Given the description of an element on the screen output the (x, y) to click on. 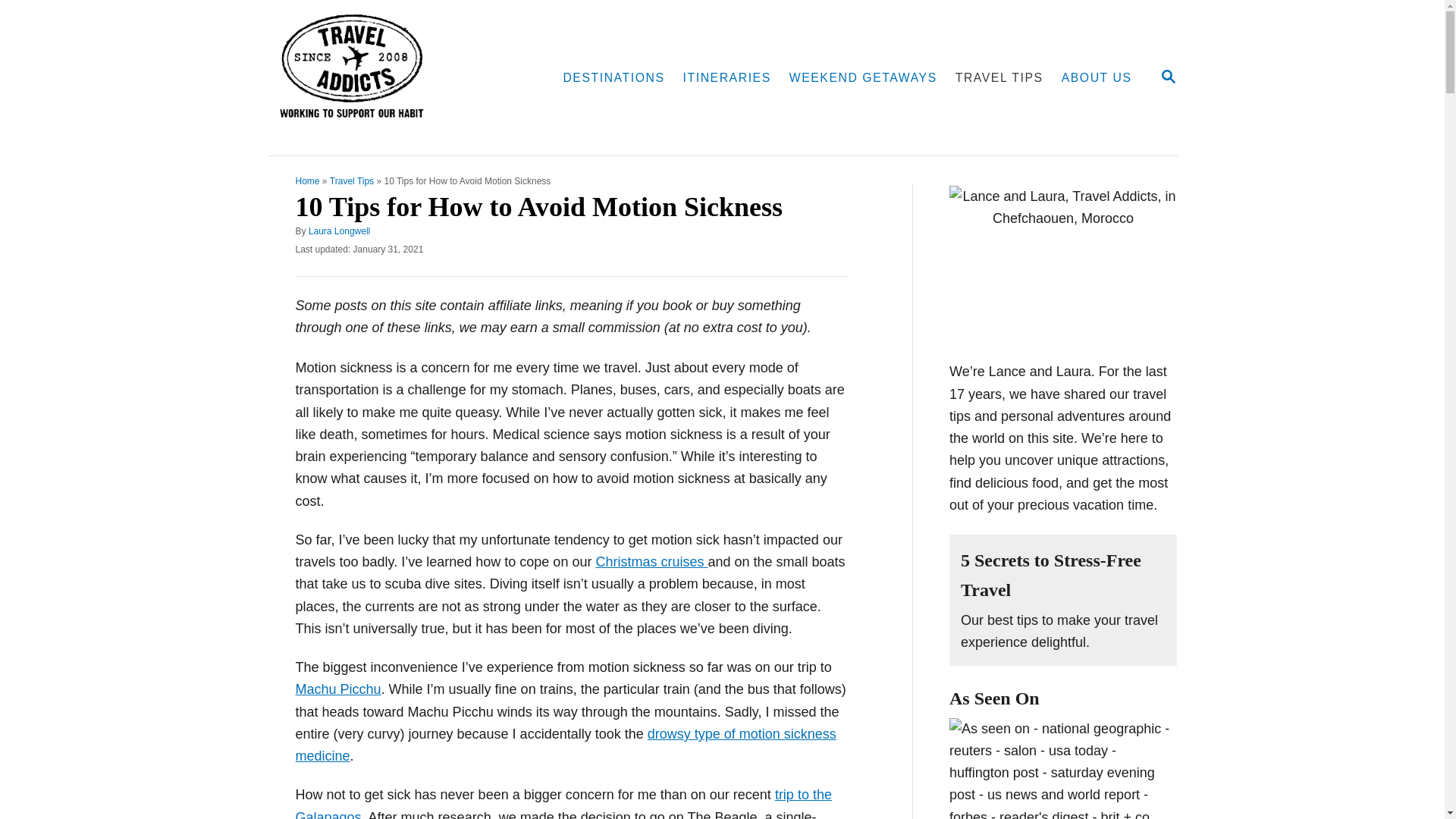
DESTINATIONS (612, 78)
WEEKEND GETAWAYS (863, 78)
ITINERARIES (727, 78)
Machu Picchu (338, 688)
ABOUT US (1096, 78)
Christmas cruises (651, 561)
trip to the Galapagos (563, 803)
MAGNIFYING GLASS (1167, 77)
Laura Longwell (1167, 76)
Travel Tips (338, 231)
drowsy type of motion sickness medicine (352, 181)
TRAVEL TIPS (565, 744)
Home (999, 78)
Travel Addicts (307, 181)
